Given the description of an element on the screen output the (x, y) to click on. 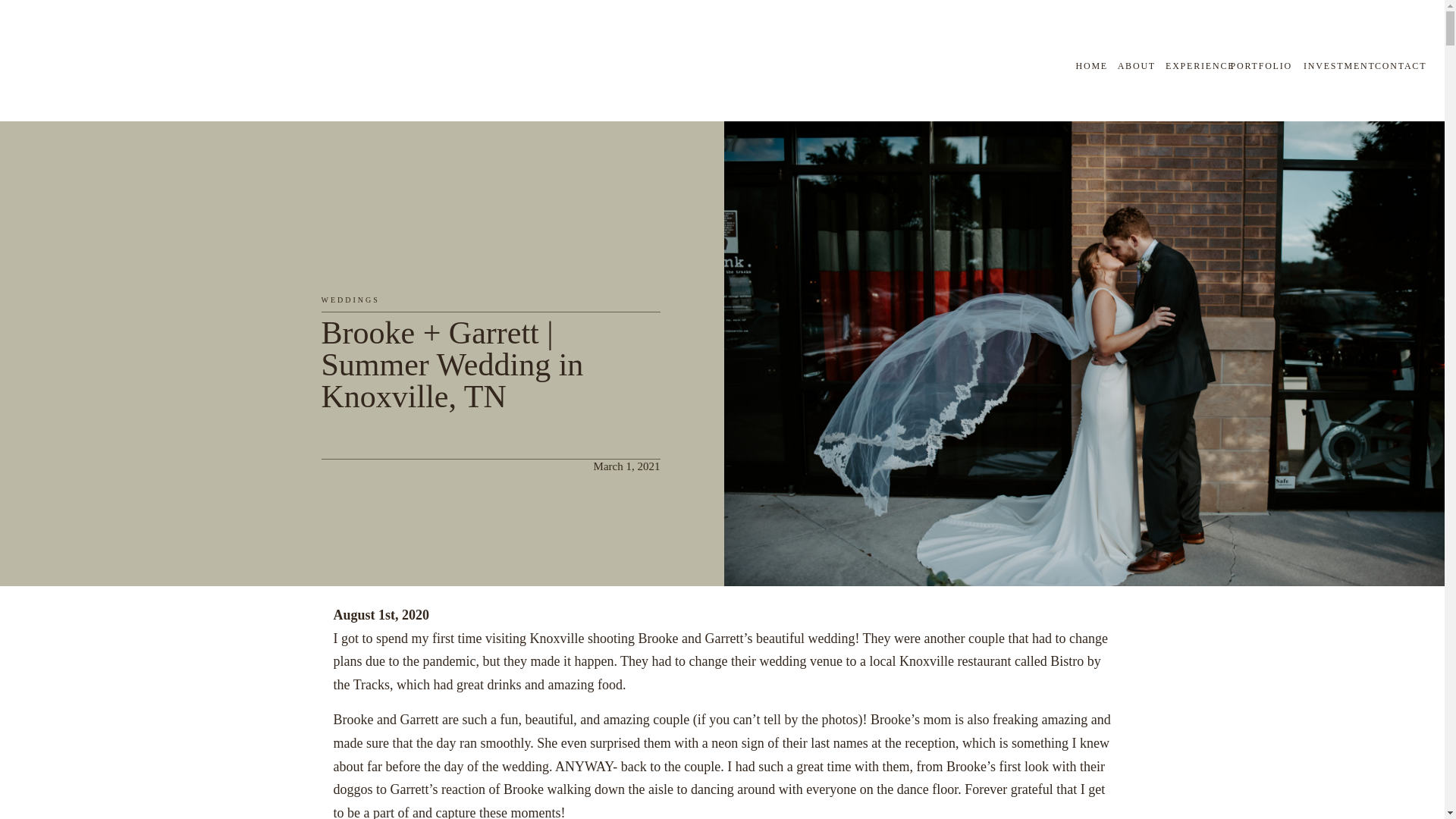
INVESTMENT (1335, 65)
HOME (1077, 65)
CONTACT (1398, 65)
PORTFOLIO (1257, 65)
THE FREE CLASS (1355, 72)
EXPERIENCE (1194, 65)
WEDDINGS (350, 299)
ABOUT (1132, 65)
